Given the description of an element on the screen output the (x, y) to click on. 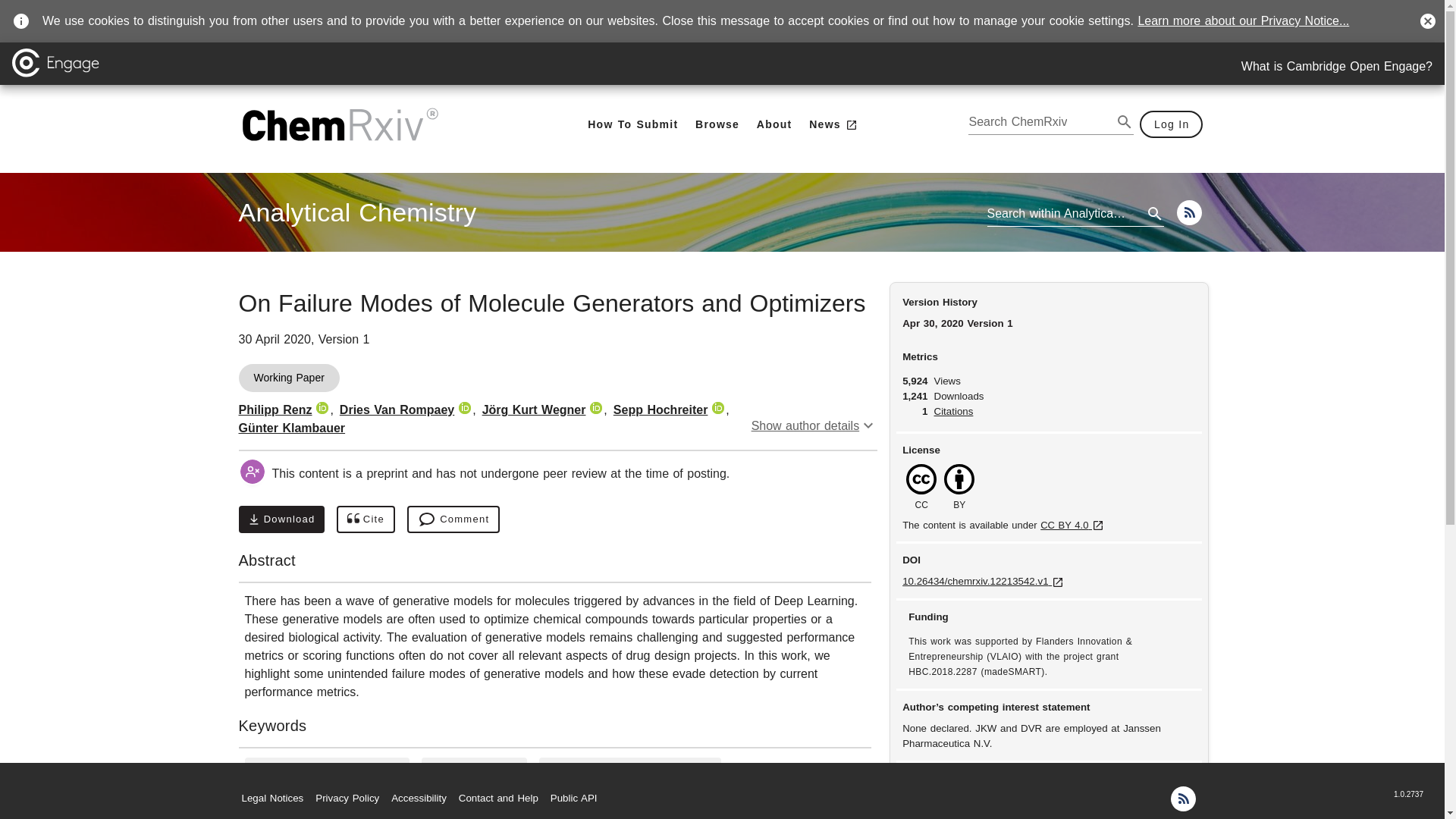
Download (280, 519)
About (773, 124)
Log In (1172, 124)
How To Submit (632, 124)
Dries Van Rompaey (396, 409)
Cite (365, 519)
What is Cambridge Open Engage? (1336, 66)
Generative models for molecules (357, 212)
Sepp Hochreiter (630, 770)
Comment (659, 409)
De novo molecule generation (453, 519)
Browse (326, 770)
Show author details (716, 124)
Philipp Renz (814, 425)
